Given the description of an element on the screen output the (x, y) to click on. 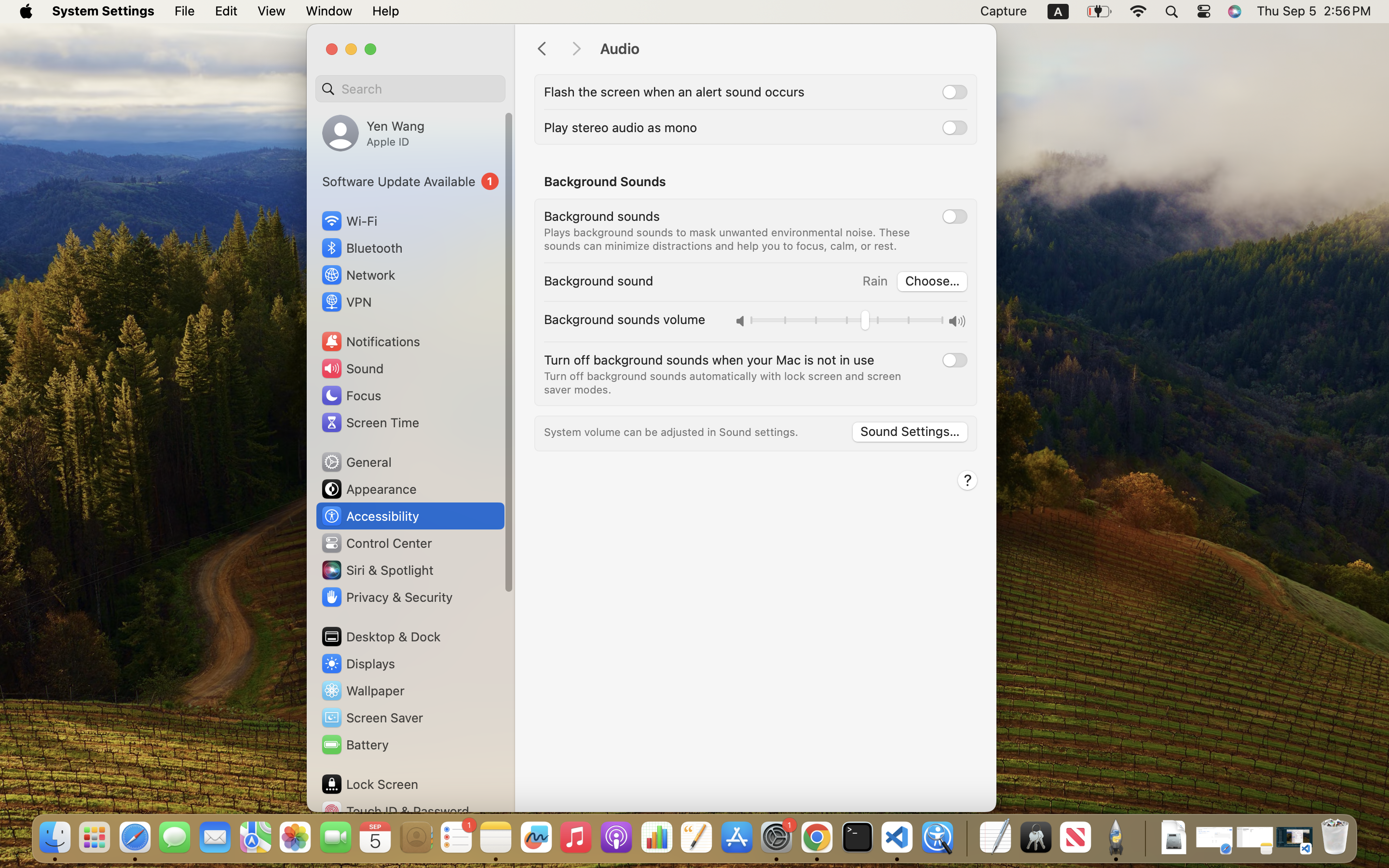
Accessibility Element type: AXStaticText (369, 515)
Wallpaper Element type: AXStaticText (362, 690)
Desktop & Dock Element type: AXStaticText (380, 636)
0.6000000238418579 Element type: AXSlider (846, 321)
Displays Element type: AXStaticText (357, 663)
